Given the description of an element on the screen output the (x, y) to click on. 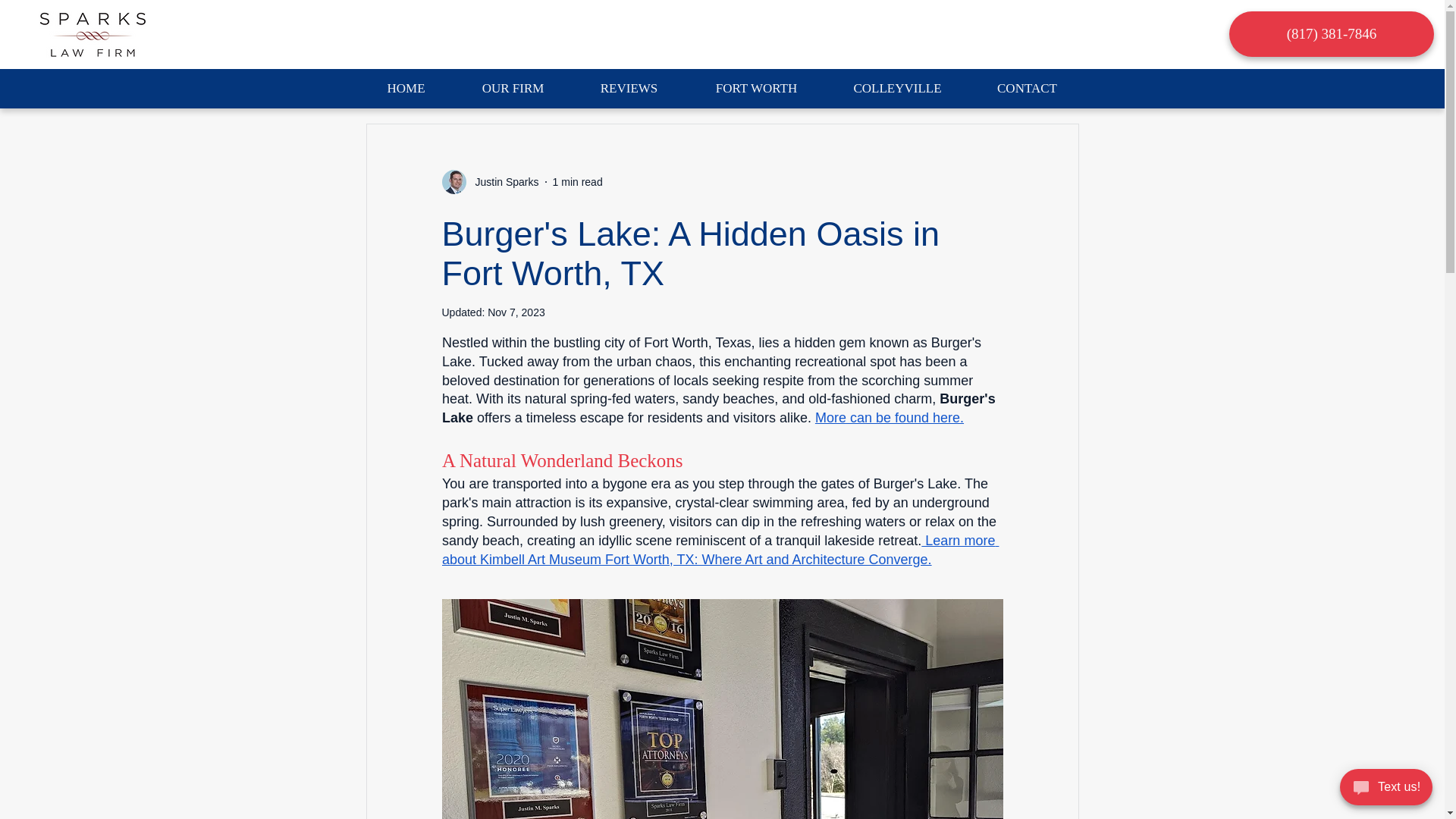
More can be found here. (887, 417)
Justin Sparks (501, 182)
CONTACT (1027, 88)
HOME (406, 88)
Nov 7, 2023 (515, 312)
1 min read (577, 182)
REVIEWS (629, 88)
